Given the description of an element on the screen output the (x, y) to click on. 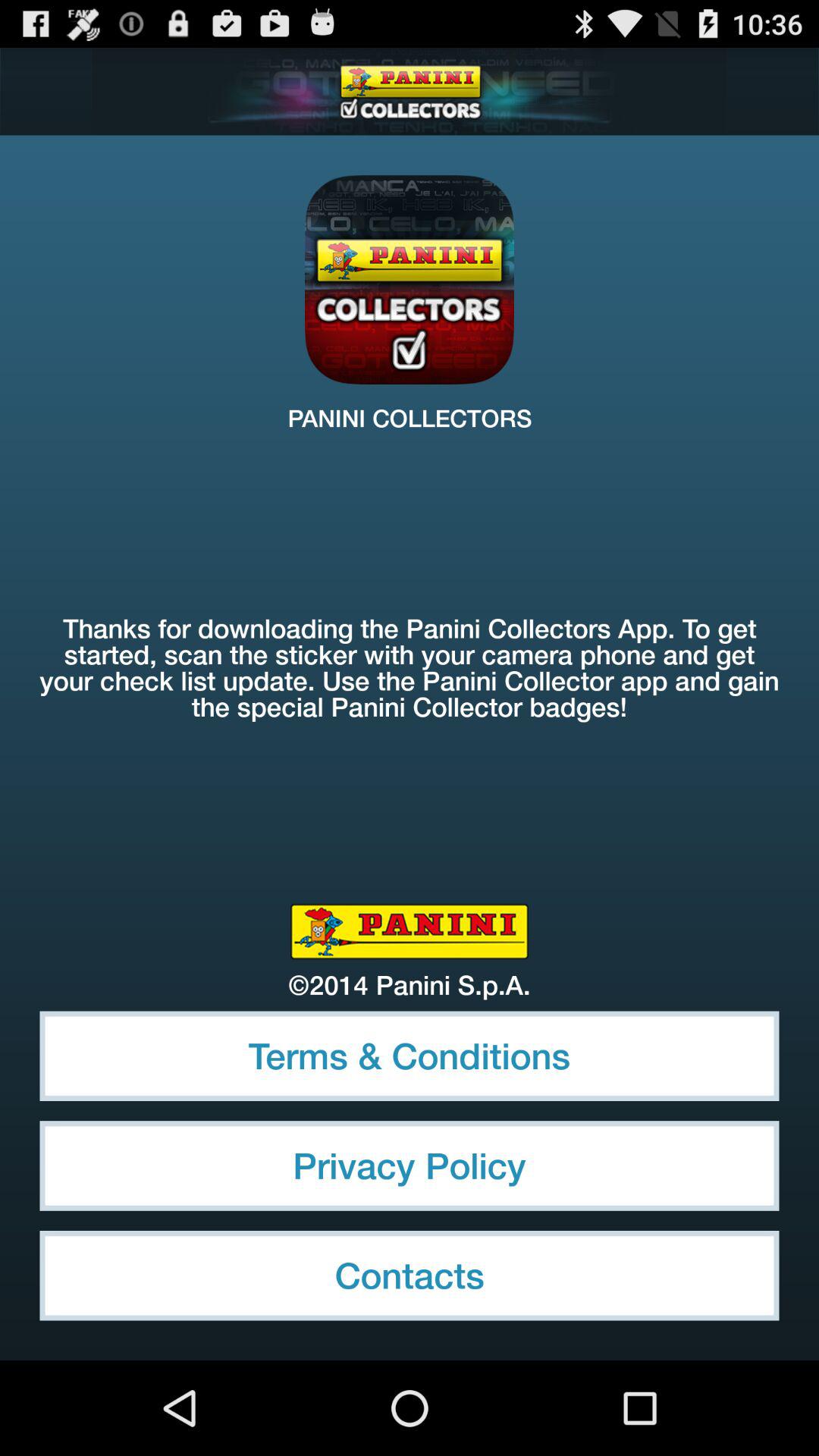
press the terms & conditions item (409, 1056)
